Given the description of an element on the screen output the (x, y) to click on. 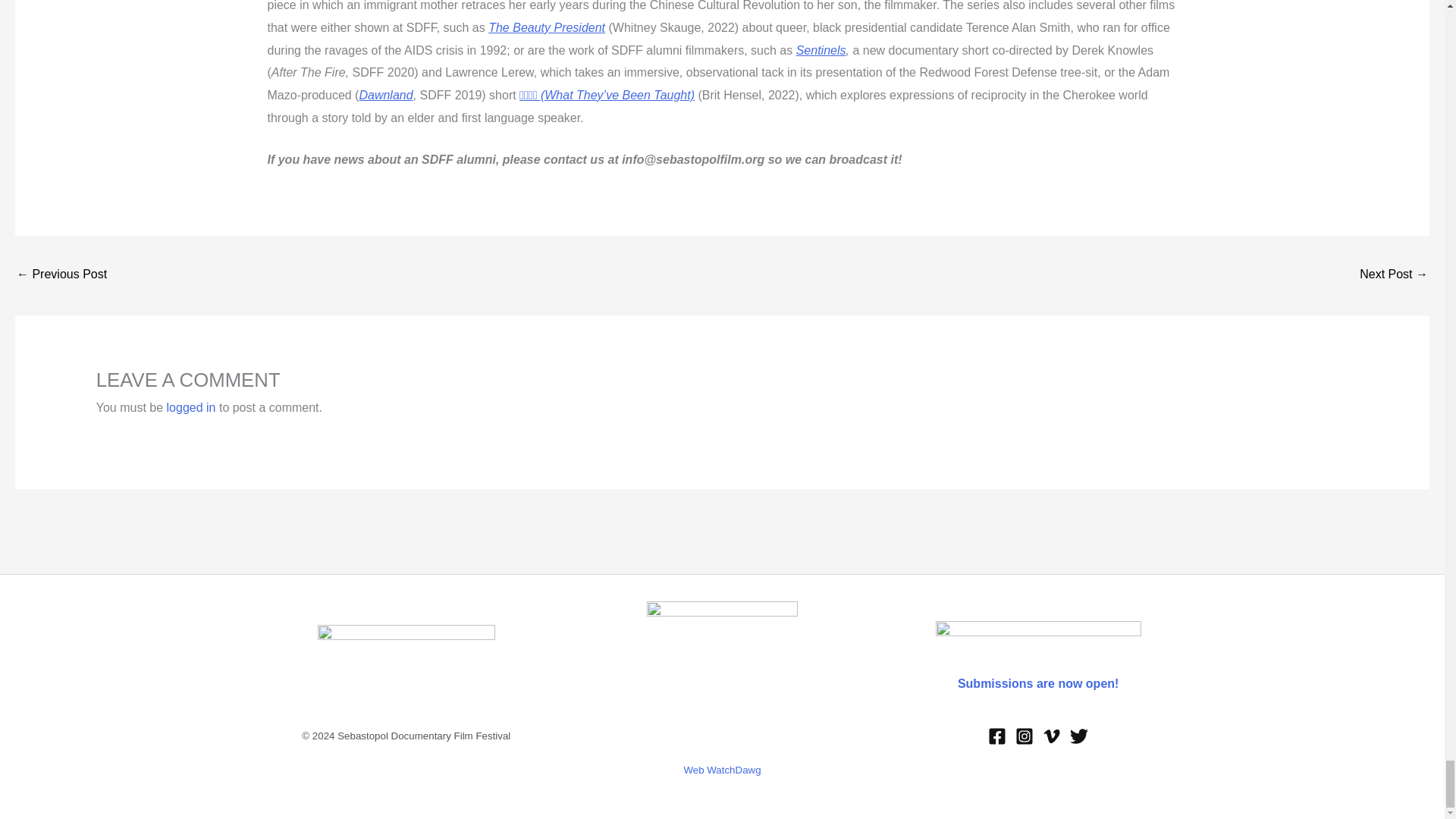
Bay Area Environmental Shorts Showcase - Nov. 1 (1393, 275)
